Given the description of an element on the screen output the (x, y) to click on. 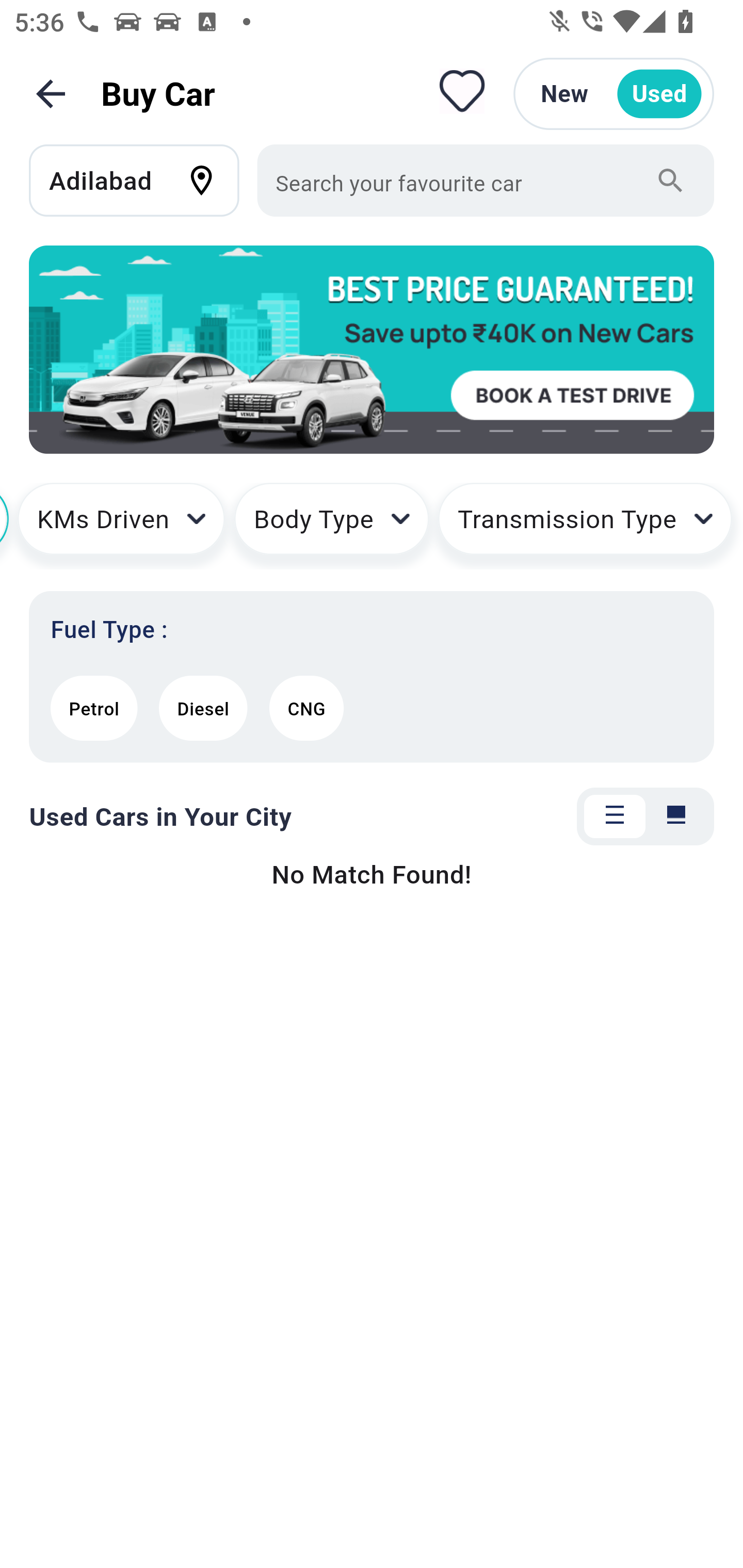
Back (50, 93)
New (564, 93)
Used (659, 93)
Adilabad (142, 180)
KMs Driven (121, 525)
Body Type (331, 525)
Transmission Type (584, 525)
Petrol (93, 707)
Diesel (203, 707)
CNG (305, 707)
Tab 1 of 2 (614, 816)
Tab 2 of 2 (675, 816)
